Given the description of an element on the screen output the (x, y) to click on. 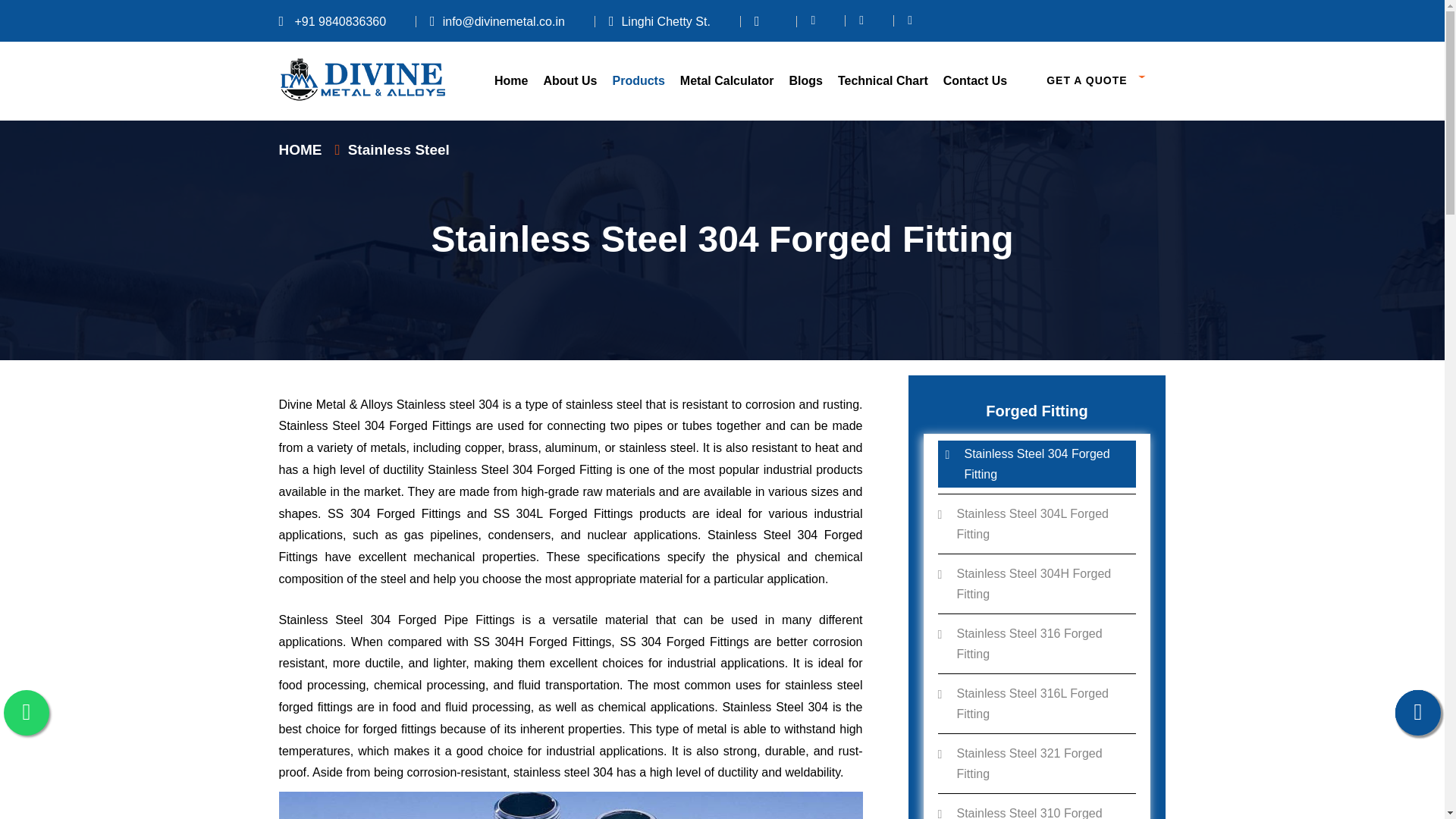
About Us (569, 80)
Products (638, 80)
Contact Us (975, 80)
GET A QUOTE (1096, 81)
Linghi Chetty St. (659, 21)
Technical Chart (883, 80)
Metal Calculator (726, 80)
